Given the description of an element on the screen output the (x, y) to click on. 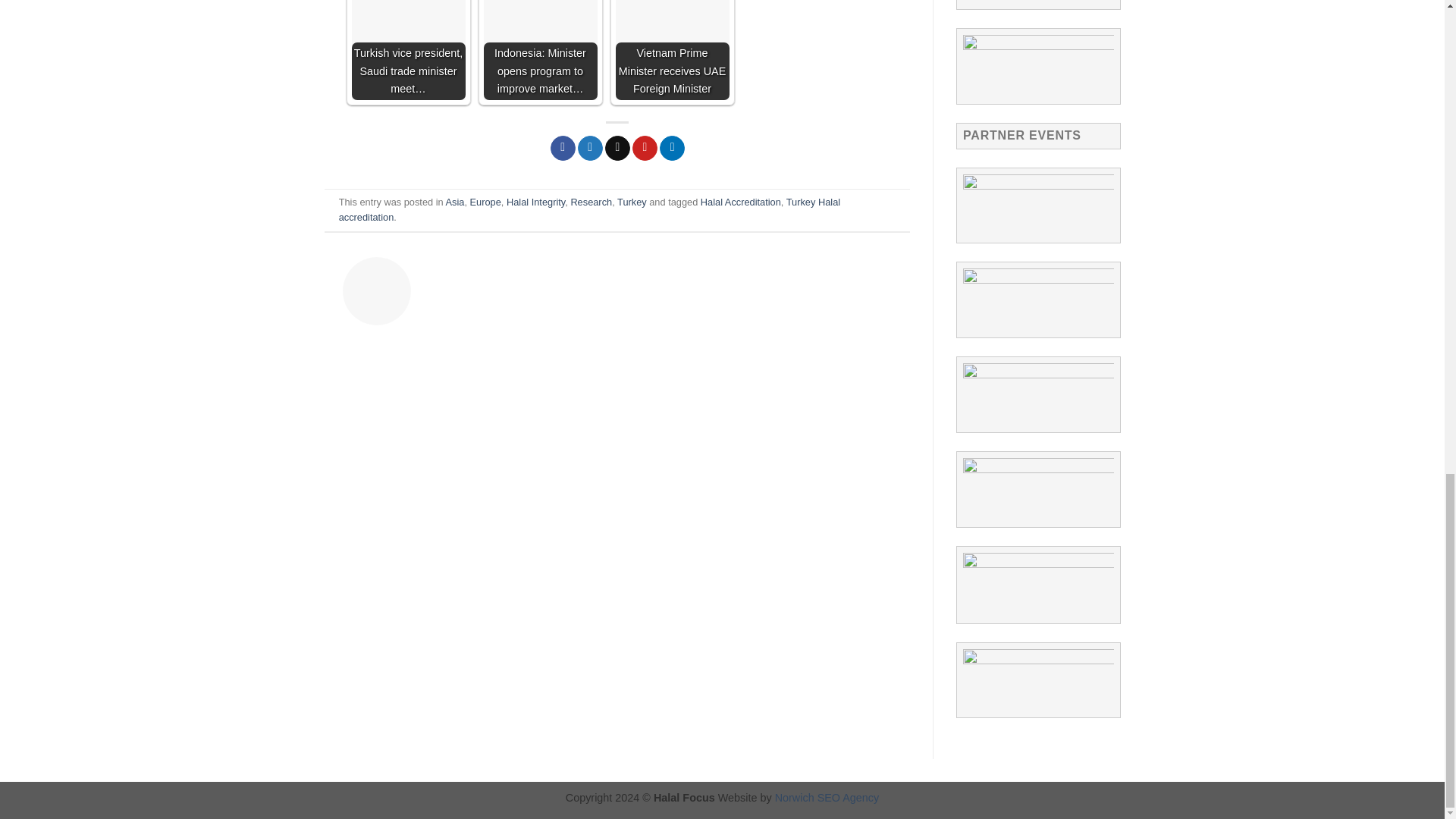
Norwich SEO Agency (826, 797)
Vietnam Prime Minister receives UAE Foreign Minister (672, 49)
